Given the description of an element on the screen output the (x, y) to click on. 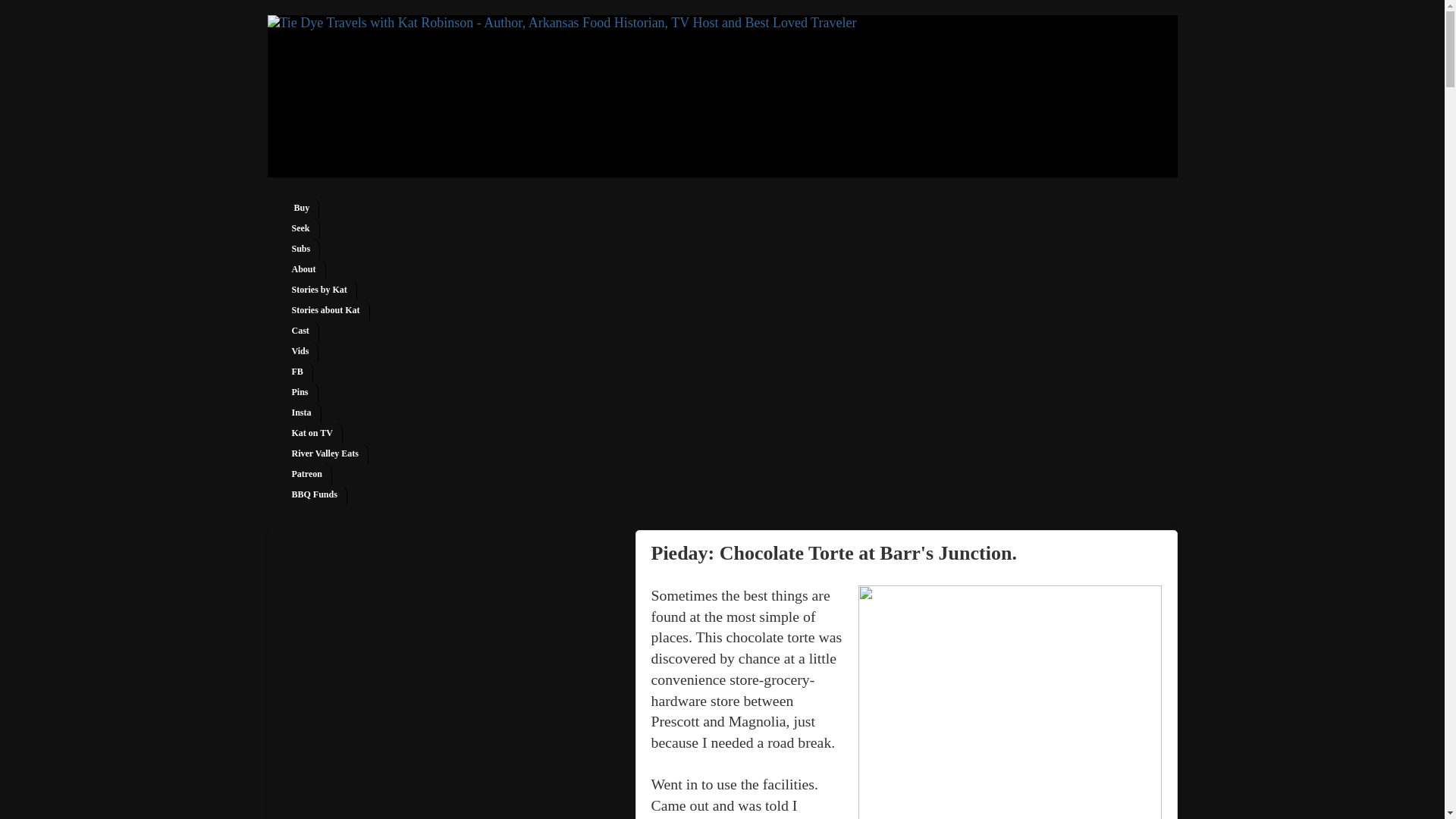
Cast (300, 331)
Kat on TV (312, 433)
BBQ Funds (314, 494)
Insta (301, 412)
Seek (300, 228)
Subs (301, 249)
Stories by Kat (319, 290)
Patreon (306, 474)
Vids (300, 351)
Stories about Kat (325, 310)
FB (297, 371)
River Valley Eats (325, 453)
Pins (299, 392)
About (303, 269)
Buy (300, 208)
